Given the description of an element on the screen output the (x, y) to click on. 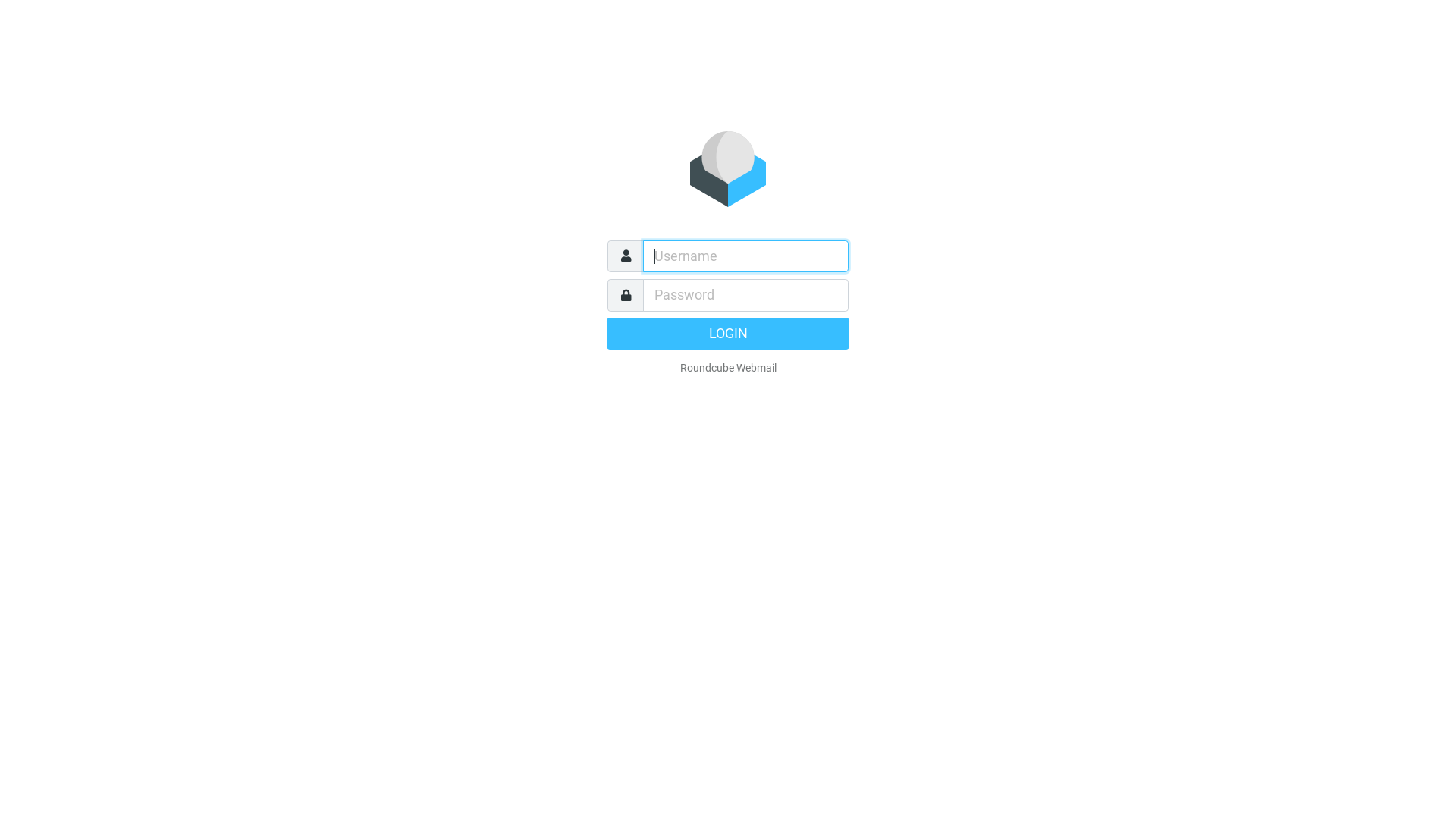
LOGIN Element type: text (727, 332)
